Given the description of an element on the screen output the (x, y) to click on. 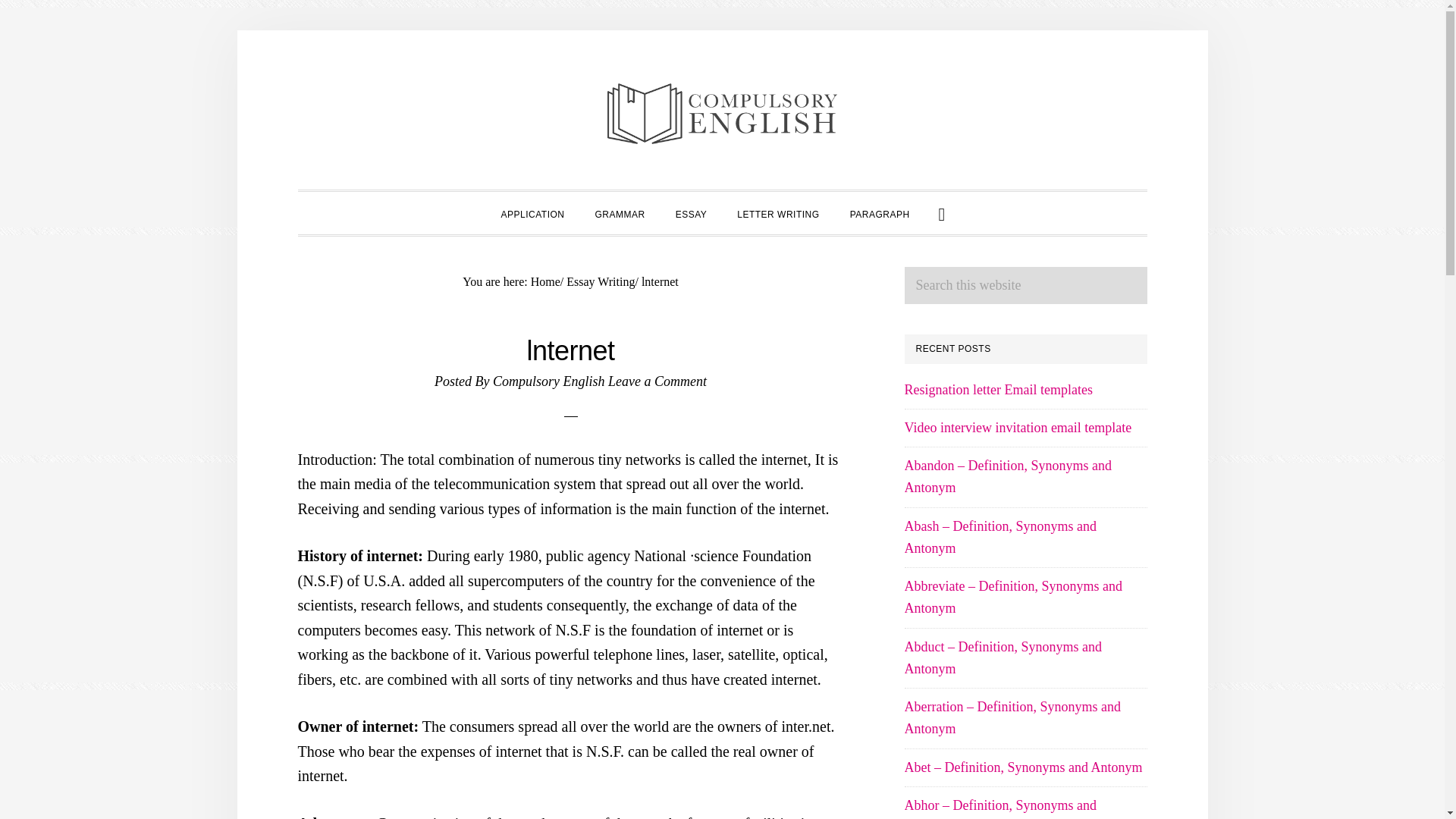
COMPULSORY ENGLISH (721, 113)
GRAMMAR (619, 212)
Essay Writing (600, 281)
Compulsory English (549, 381)
APPLICATION (531, 212)
Leave a Comment (657, 381)
PARAGRAPH (879, 212)
Home (545, 281)
Resignation letter Email templates (998, 389)
